Given the description of an element on the screen output the (x, y) to click on. 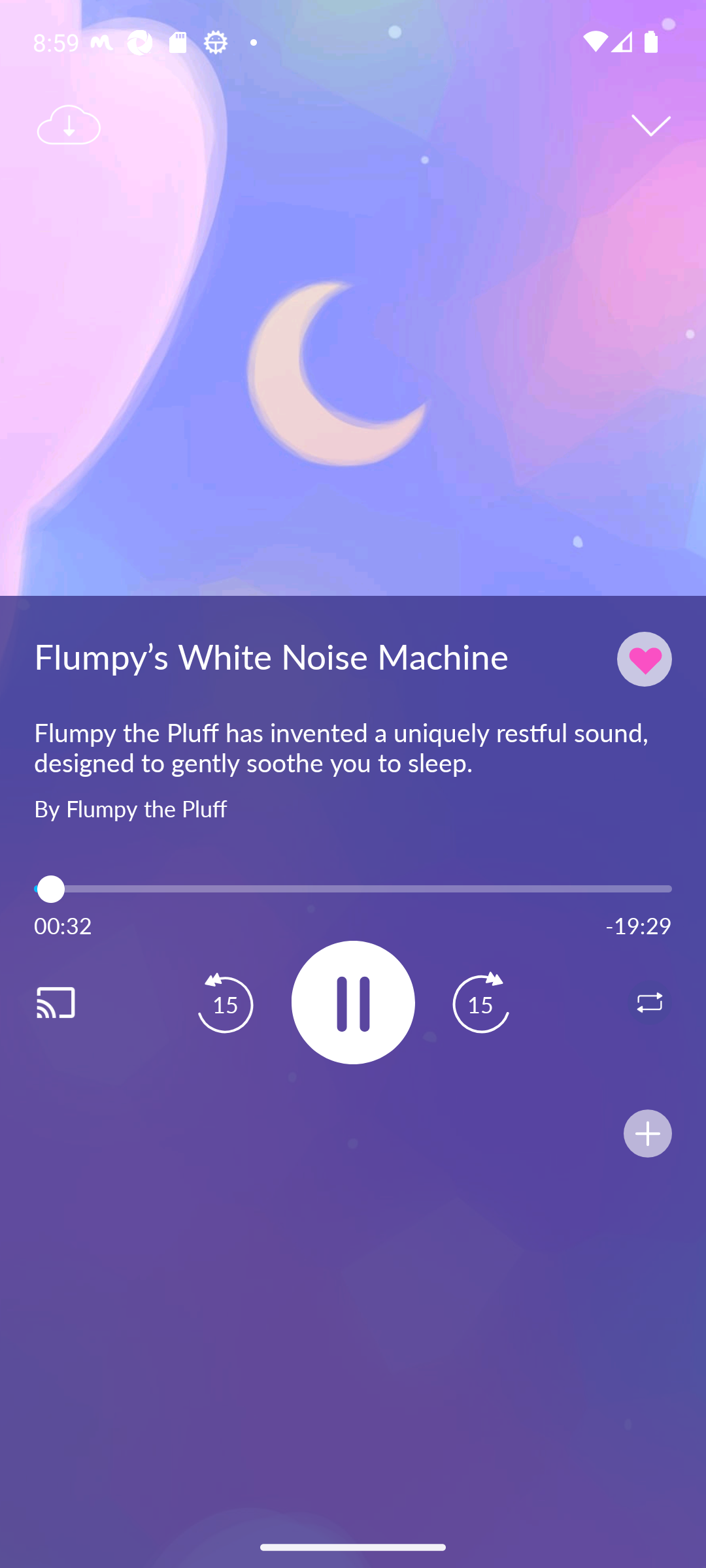
32.0 (352, 888)
Cast. Disconnected (76, 1002)
